Given the description of an element on the screen output the (x, y) to click on. 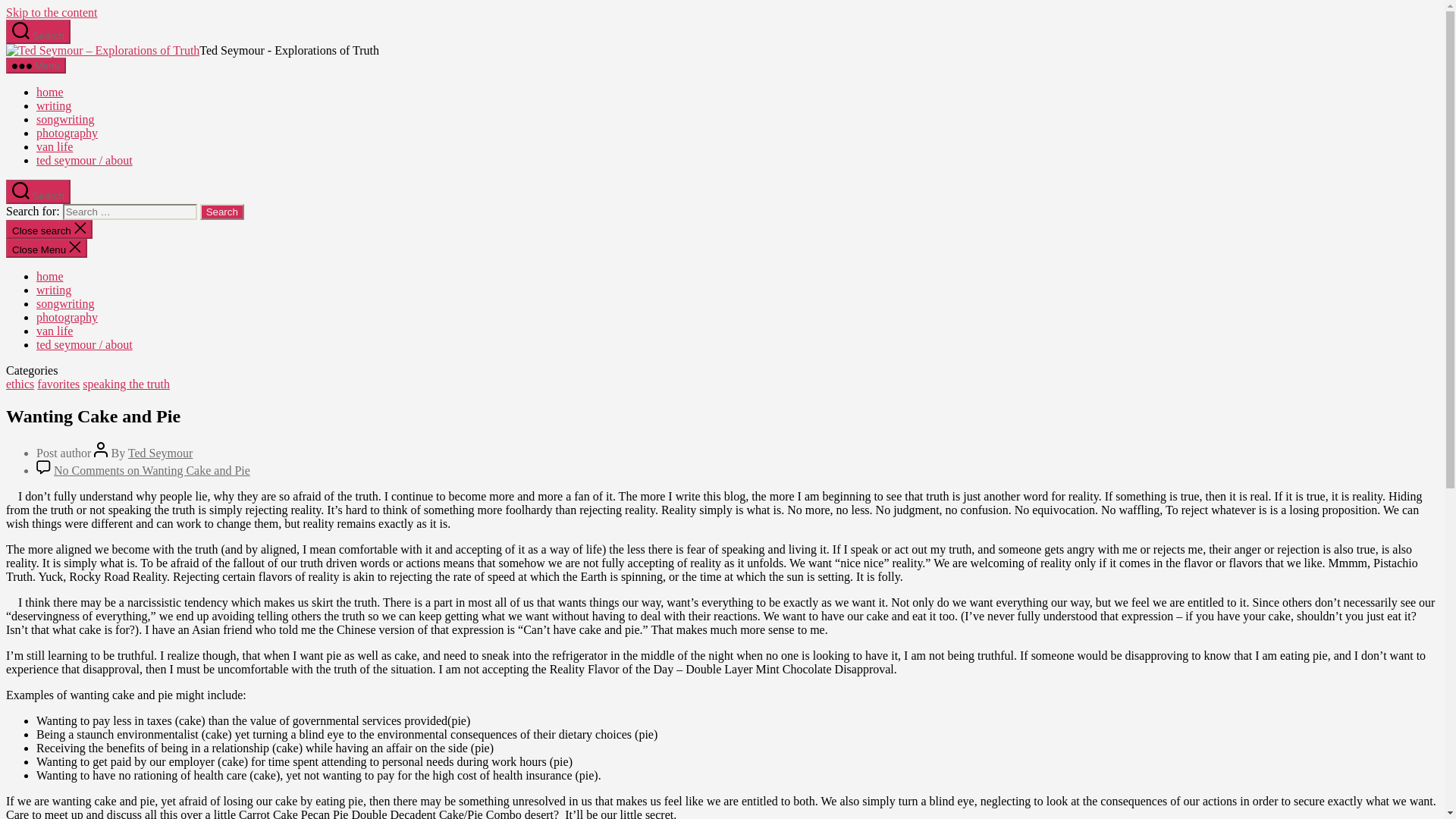
Search (37, 191)
Skip to the content (51, 11)
writing (53, 289)
van life (54, 330)
Close search (49, 229)
home (50, 276)
No Comments on Wanting Cake and Pie (151, 470)
Search (222, 211)
Close Menu (46, 248)
home (50, 91)
